Given the description of an element on the screen output the (x, y) to click on. 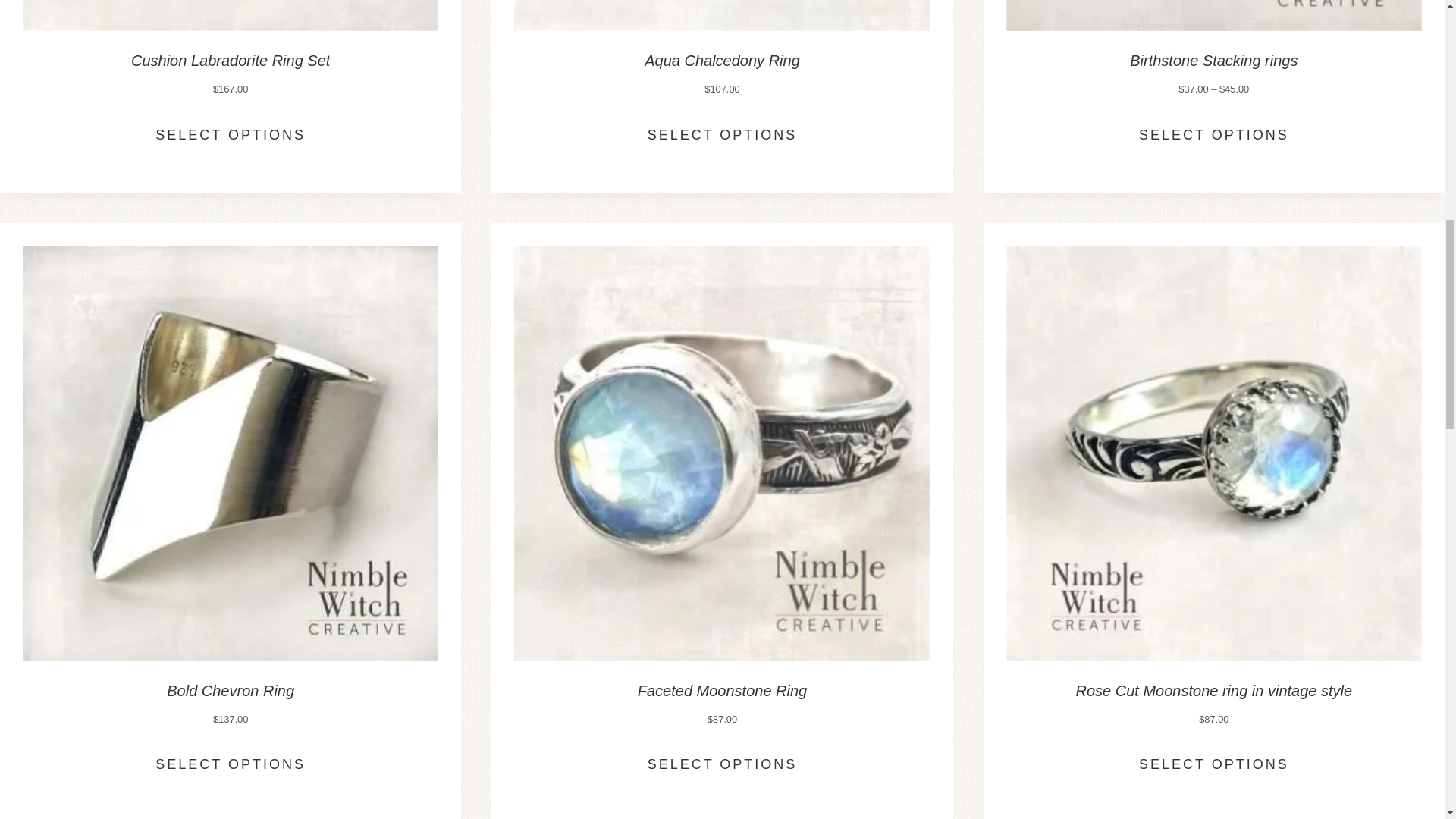
SELECT OPTIONS (1213, 133)
Birthstone Stacking rings (1213, 60)
SELECT OPTIONS (1213, 764)
Aqua Chalcedony Ring (722, 60)
cush-lab-ringset-9 (230, 15)
SELECT OPTIONS (230, 133)
SELECT OPTIONS (722, 133)
brthstone-rings-6 (1214, 15)
SELECT OPTIONS (722, 764)
Cushion Labradorite Ring Set (230, 60)
Bold Chevron Ring (230, 690)
Faceted Moonstone Ring (721, 690)
